Given the description of an element on the screen output the (x, y) to click on. 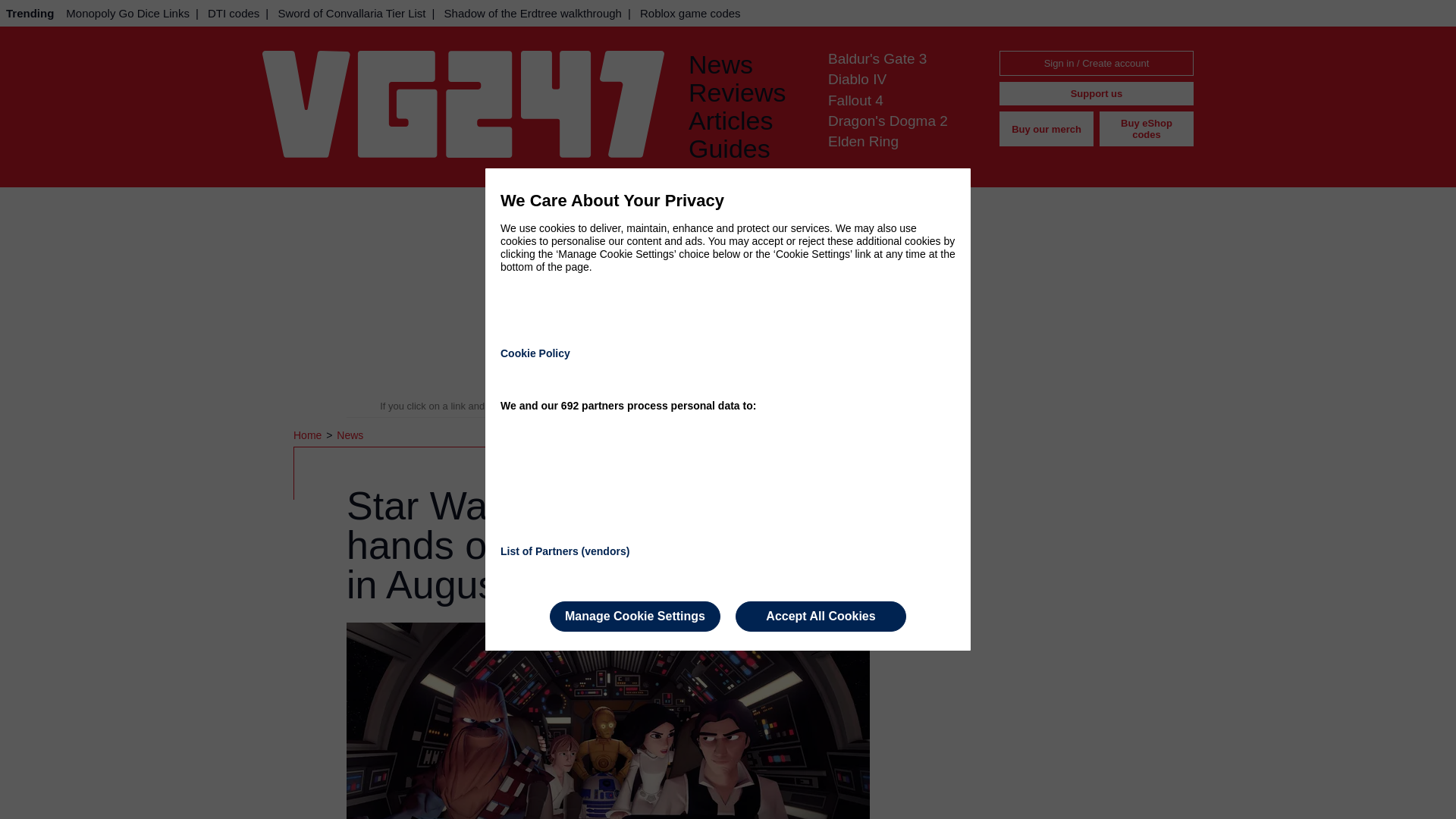
Baldur's Gate 3 (877, 58)
Monopoly Go Dice Links (127, 13)
Dragon's Dogma 2 (887, 120)
DTI codes (233, 13)
Home (309, 435)
Guides (745, 148)
Reviews (745, 92)
Buy our merch (1045, 128)
Articles (745, 121)
Reviews (745, 92)
